Given the description of an element on the screen output the (x, y) to click on. 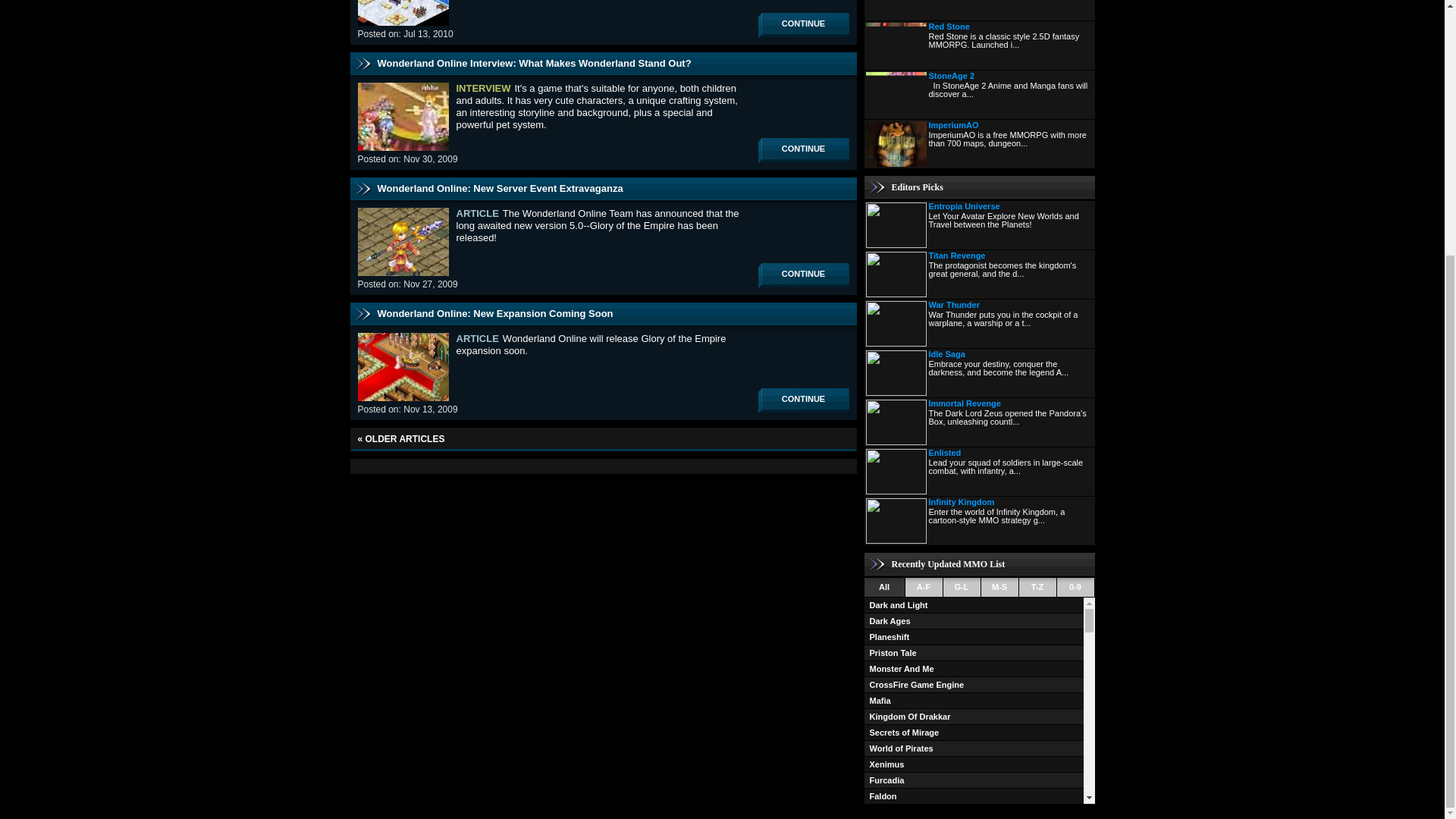
Permalink to Wonderland Online: New Expansion Coming Soon (494, 313)
Wonderland Online: New Server Event Extravaganza (500, 188)
Wonderland Online: New Expansion Coming Soon (494, 313)
